Given the description of an element on the screen output the (x, y) to click on. 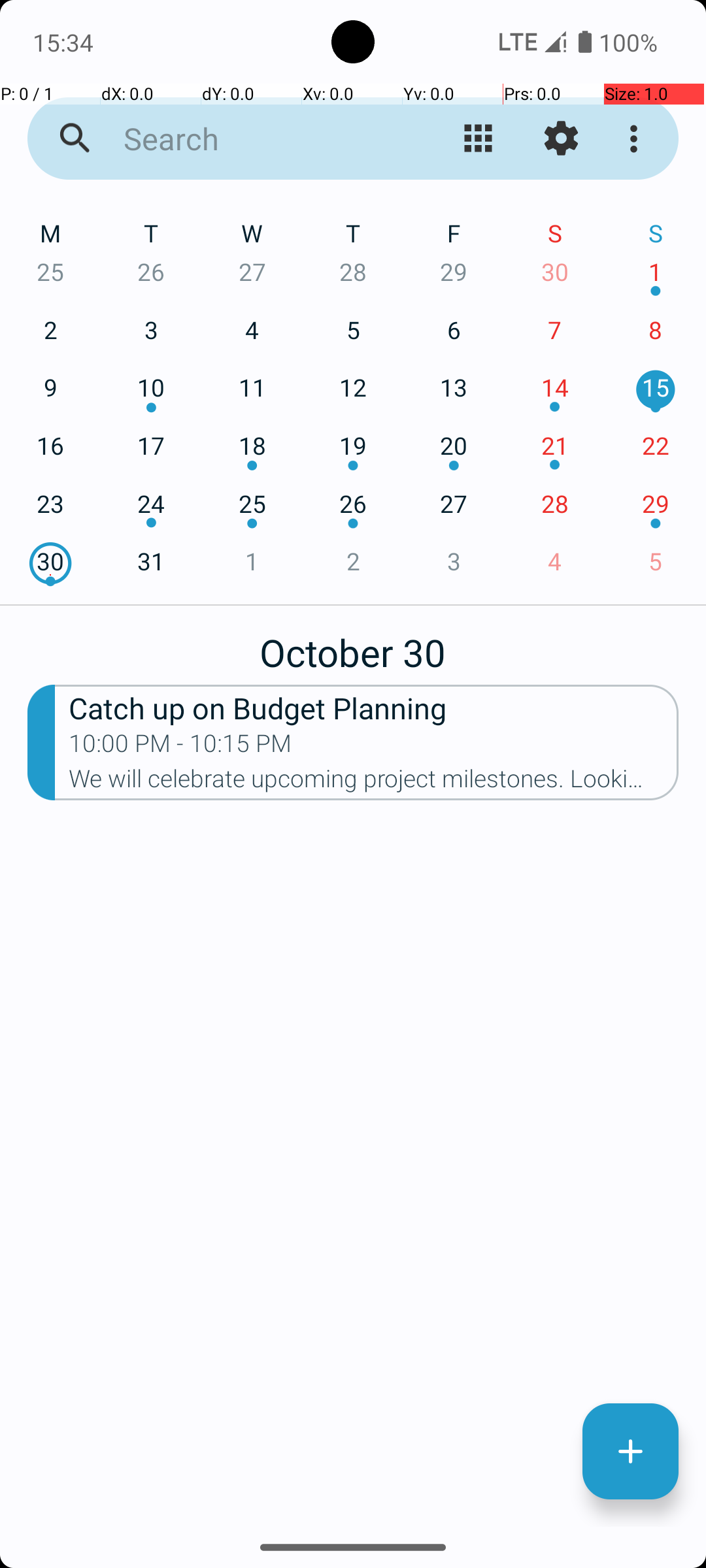
October 30 Element type: android.widget.TextView (352, 644)
Catch up on Budget Planning Element type: android.widget.TextView (373, 706)
10:00 PM - 10:15 PM Element type: android.widget.TextView (179, 747)
We will celebrate upcoming project milestones. Looking forward to productive discussions. Element type: android.widget.TextView (373, 782)
